Given the description of an element on the screen output the (x, y) to click on. 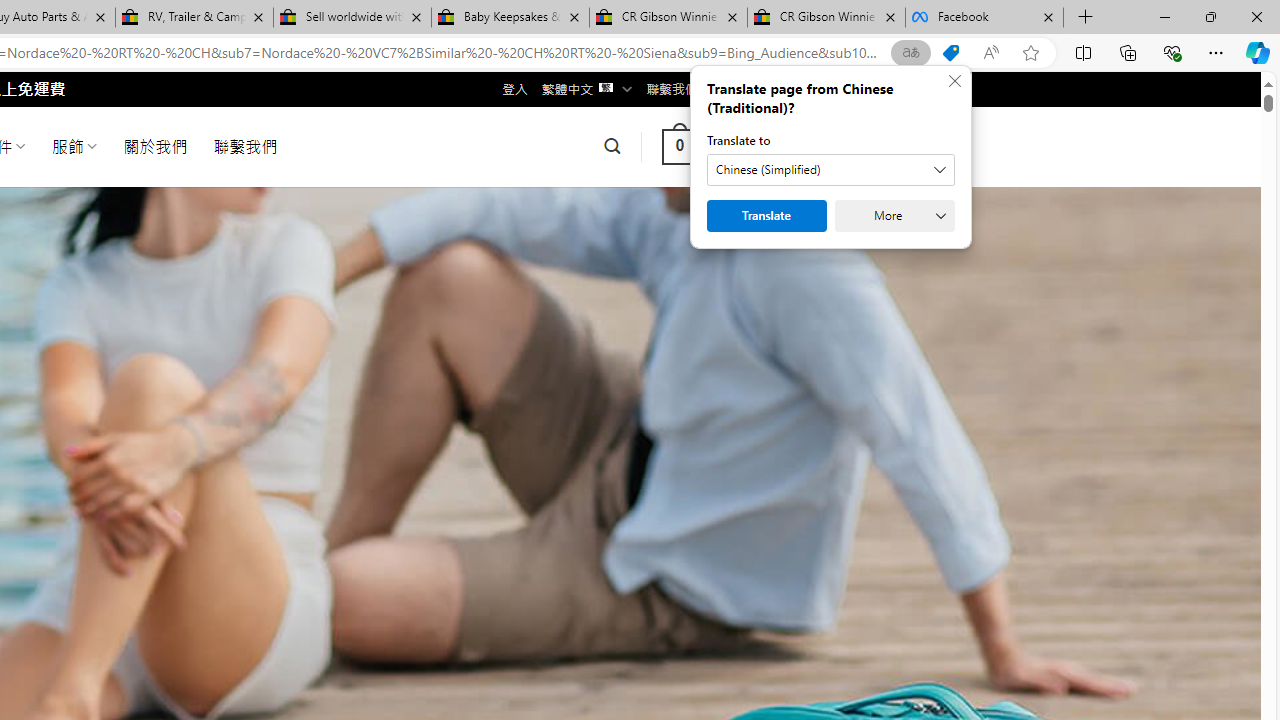
Show translate options (910, 53)
Baby Keepsakes & Announcements for sale | eBay (509, 17)
